Given the description of an element on the screen output the (x, y) to click on. 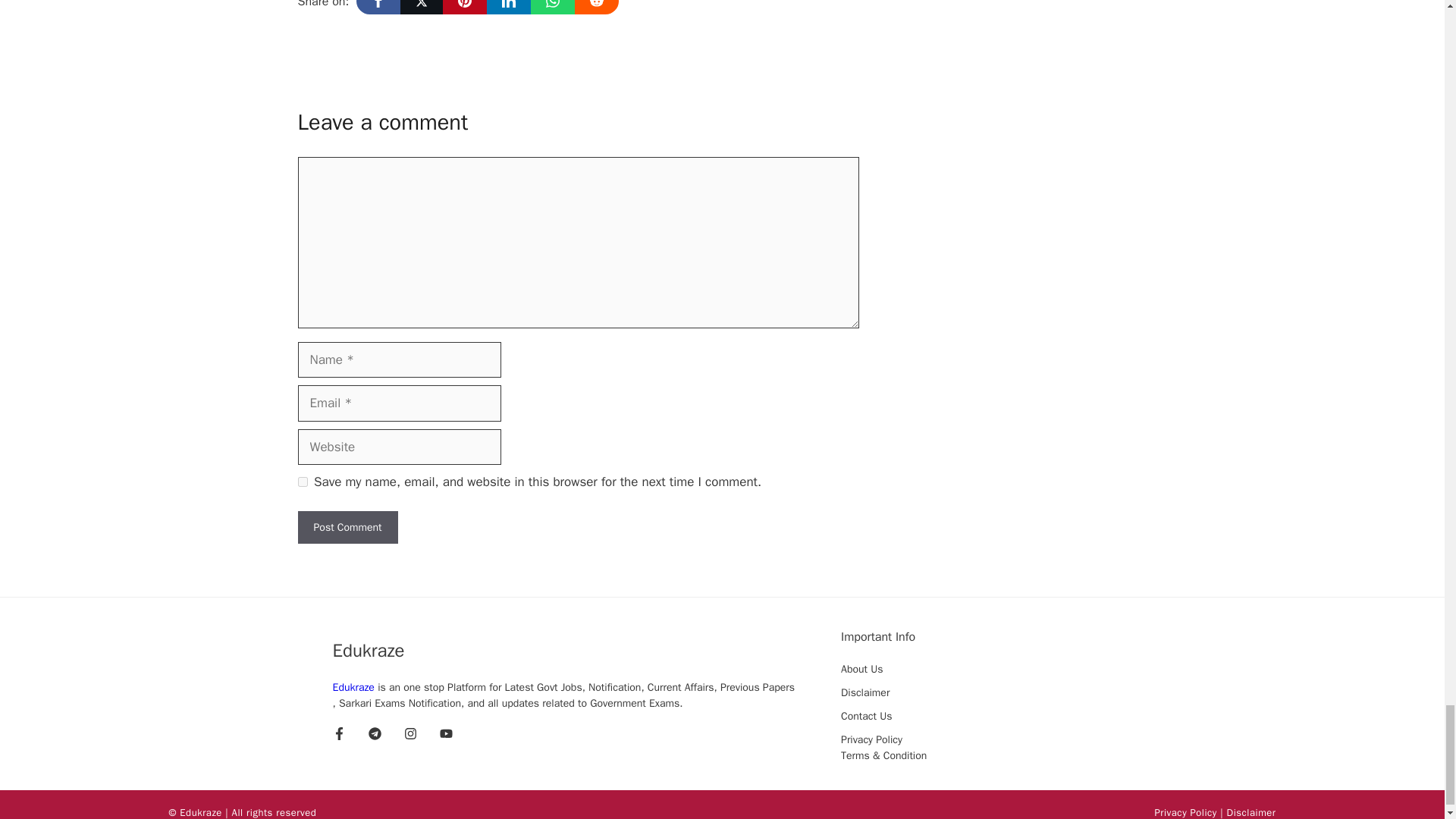
Post Comment (347, 527)
yes (302, 481)
